Given the description of an element on the screen output the (x, y) to click on. 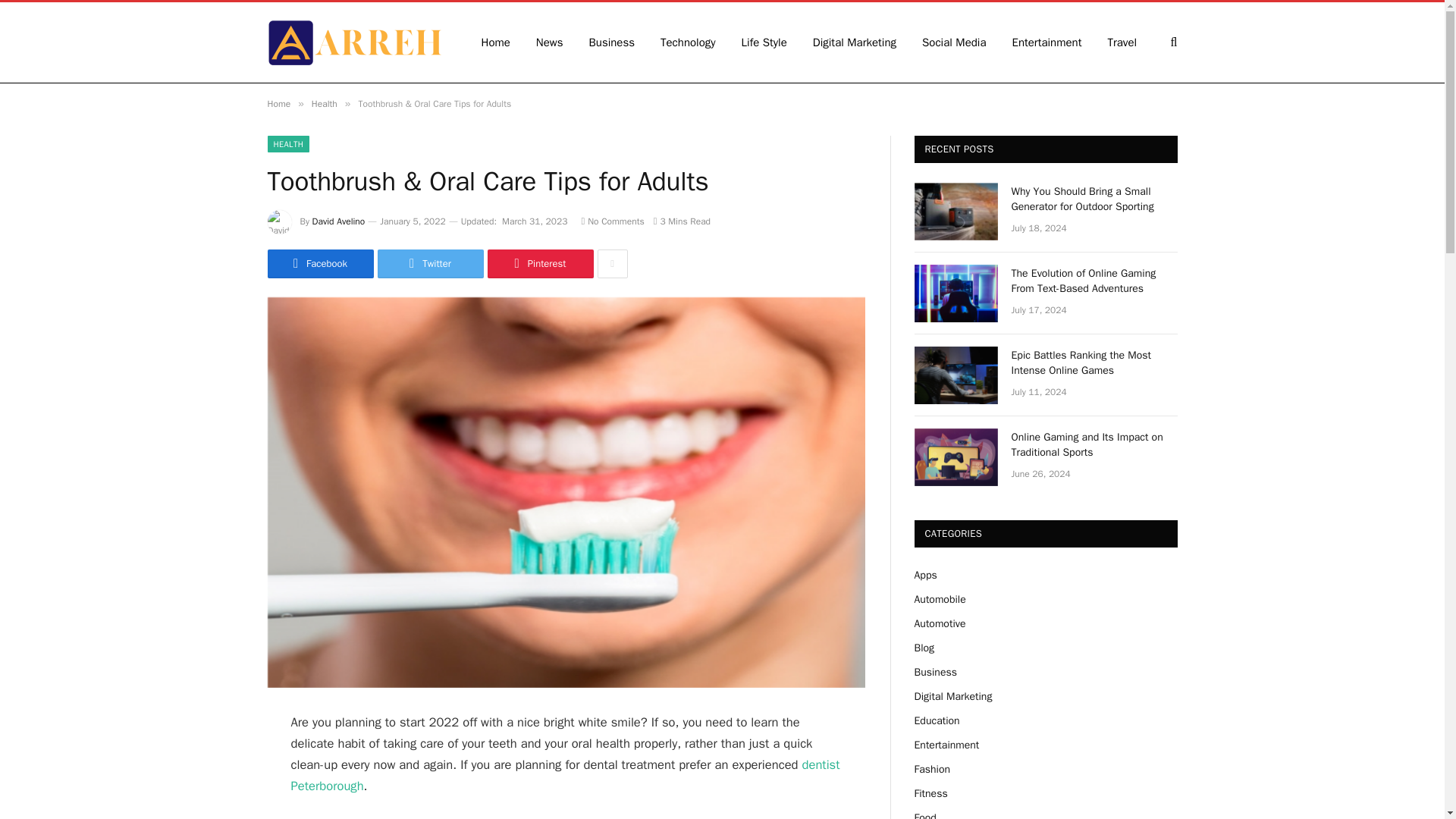
HEALTH (287, 143)
Show More Social Sharing (611, 263)
Social Media (953, 42)
David Avelino (339, 221)
dentist Peterborough (565, 774)
Digital Marketing (853, 42)
No Comments (611, 221)
Home (277, 103)
Technology (688, 42)
Pinterest (539, 263)
